Given the description of an element on the screen output the (x, y) to click on. 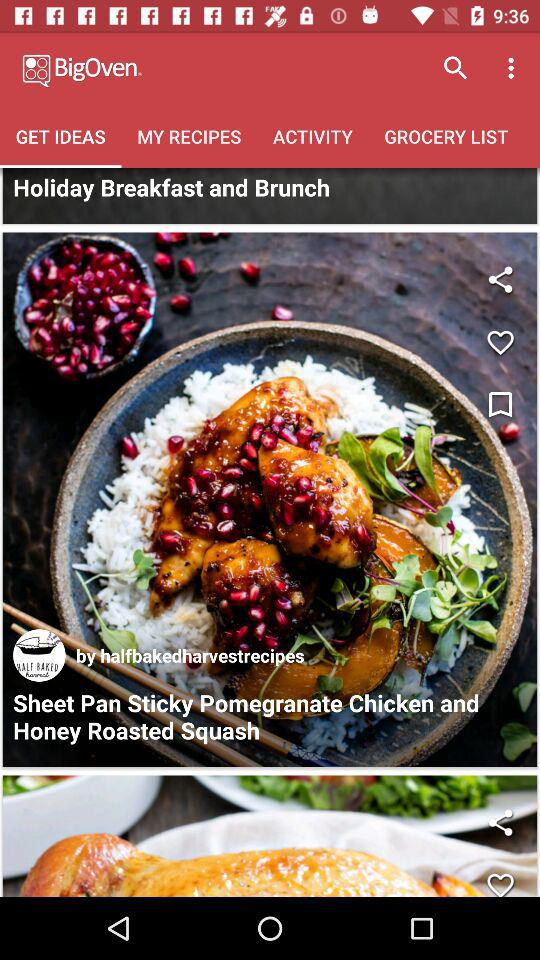
turn off the item above the sheet pan sticky (190, 655)
